Given the description of an element on the screen output the (x, y) to click on. 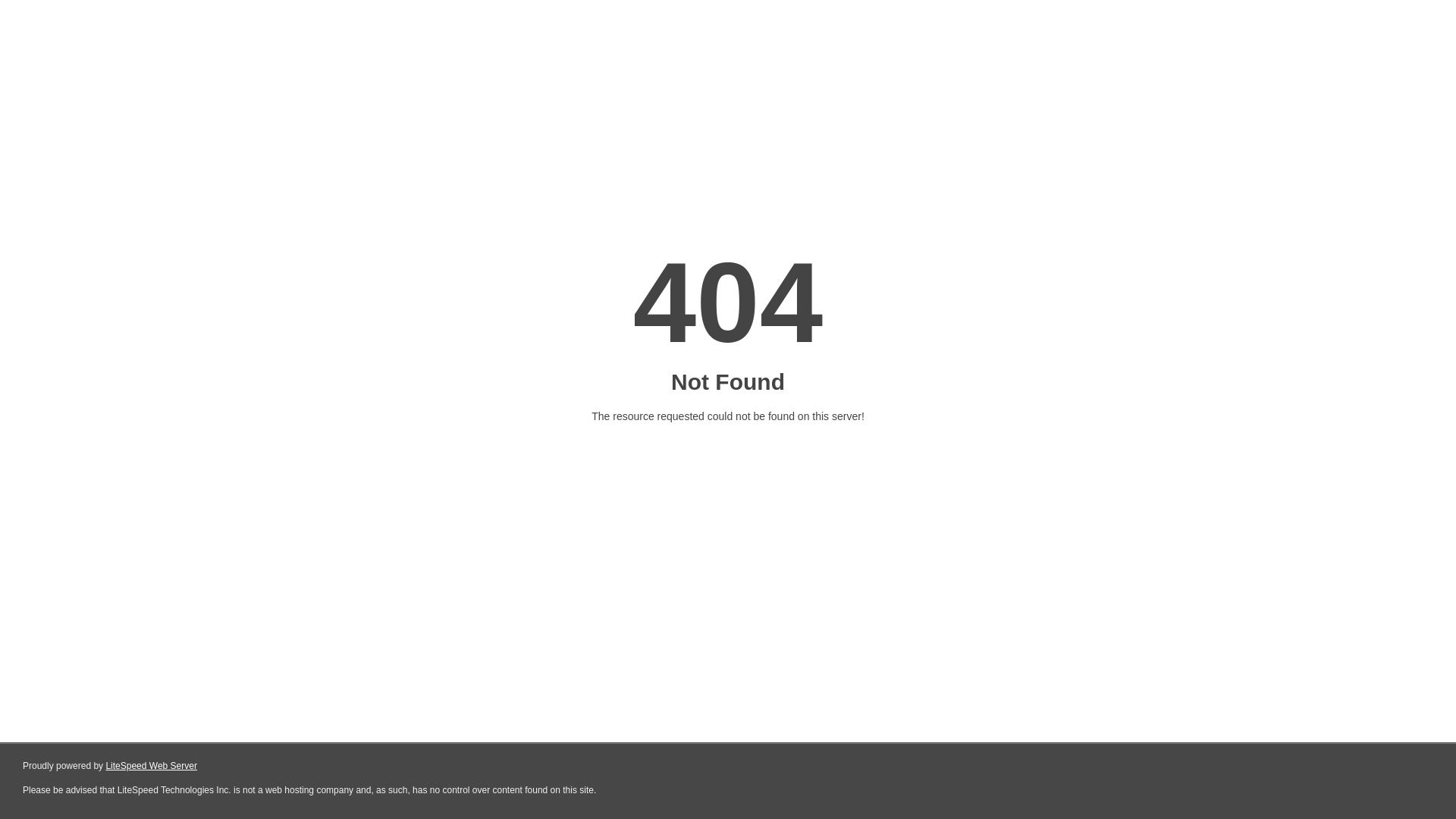
LiteSpeed Web Server Element type: text (151, 765)
